Given the description of an element on the screen output the (x, y) to click on. 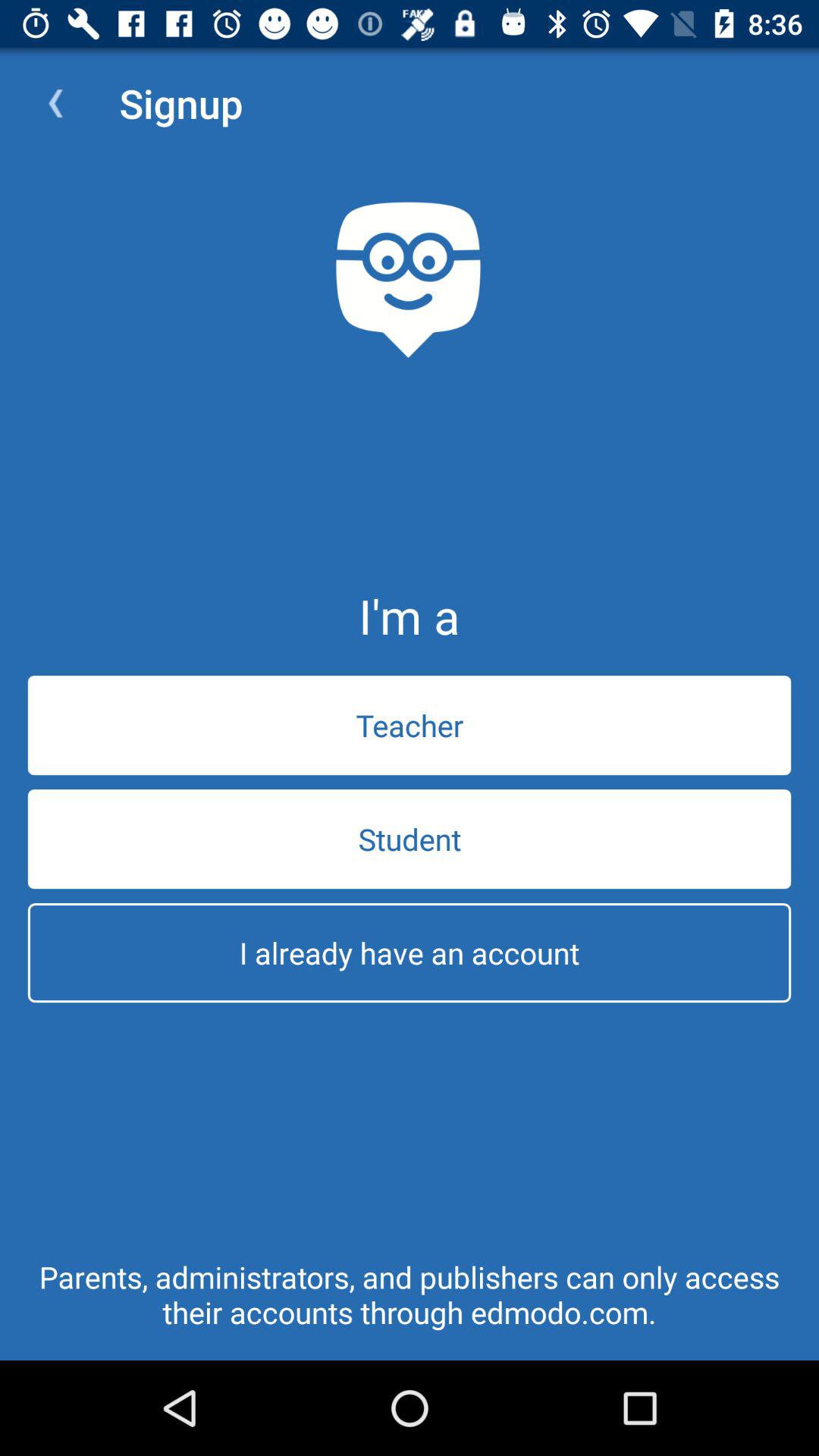
swipe until the teacher icon (409, 725)
